Given the description of an element on the screen output the (x, y) to click on. 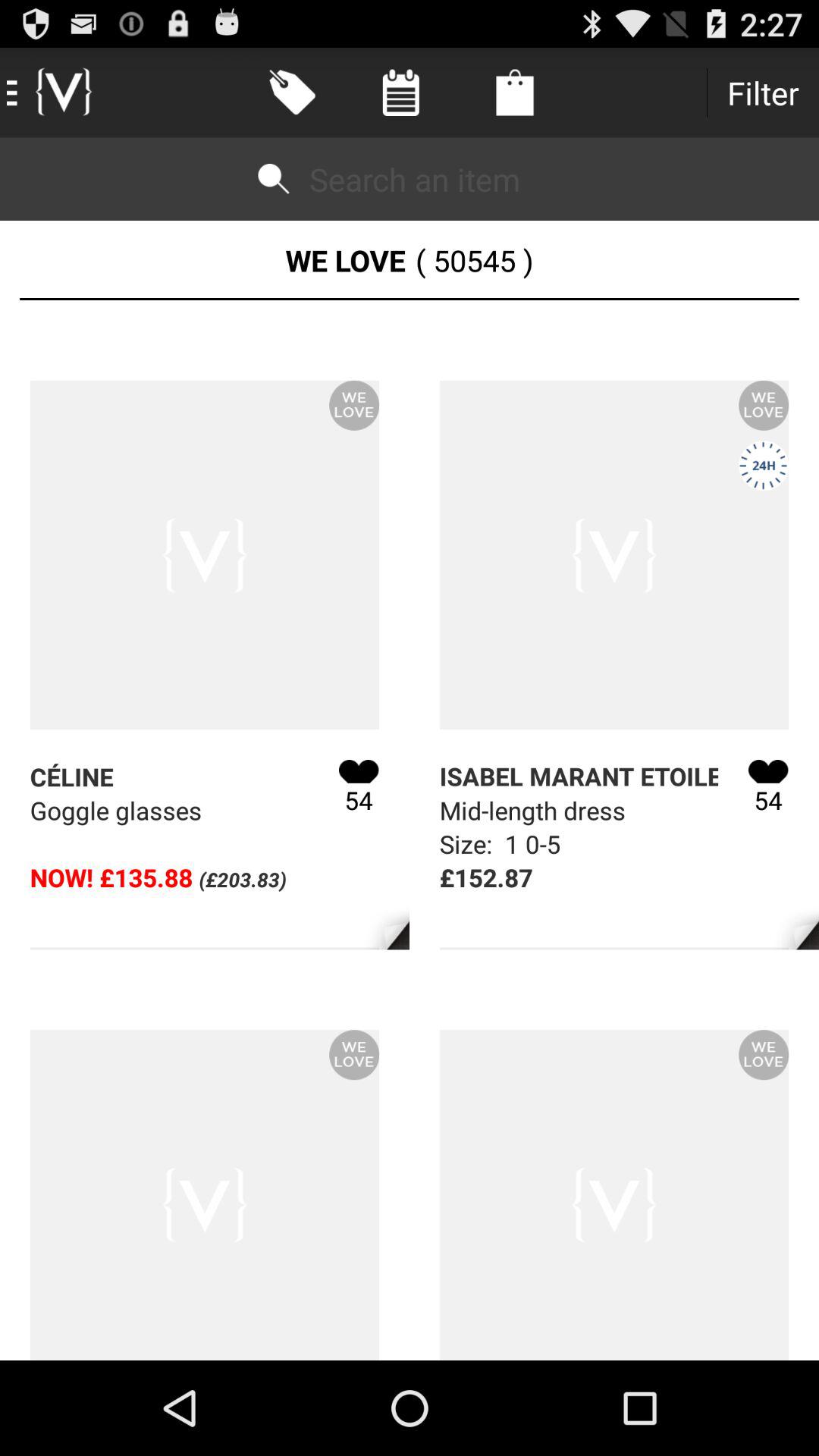
click the icon at the top left corner (52, 92)
